Given the description of an element on the screen output the (x, y) to click on. 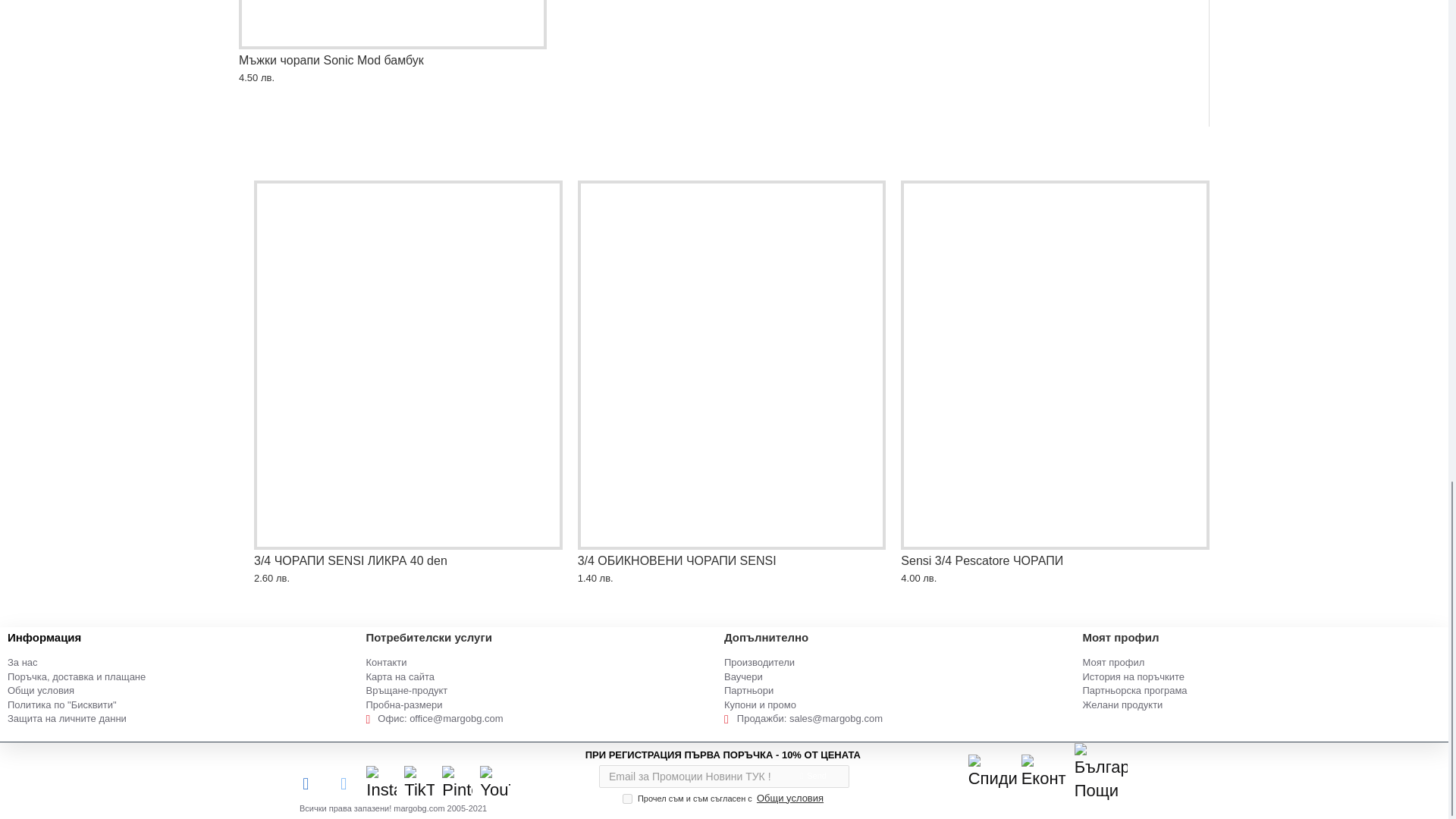
1 (627, 798)
